Given the description of an element on the screen output the (x, y) to click on. 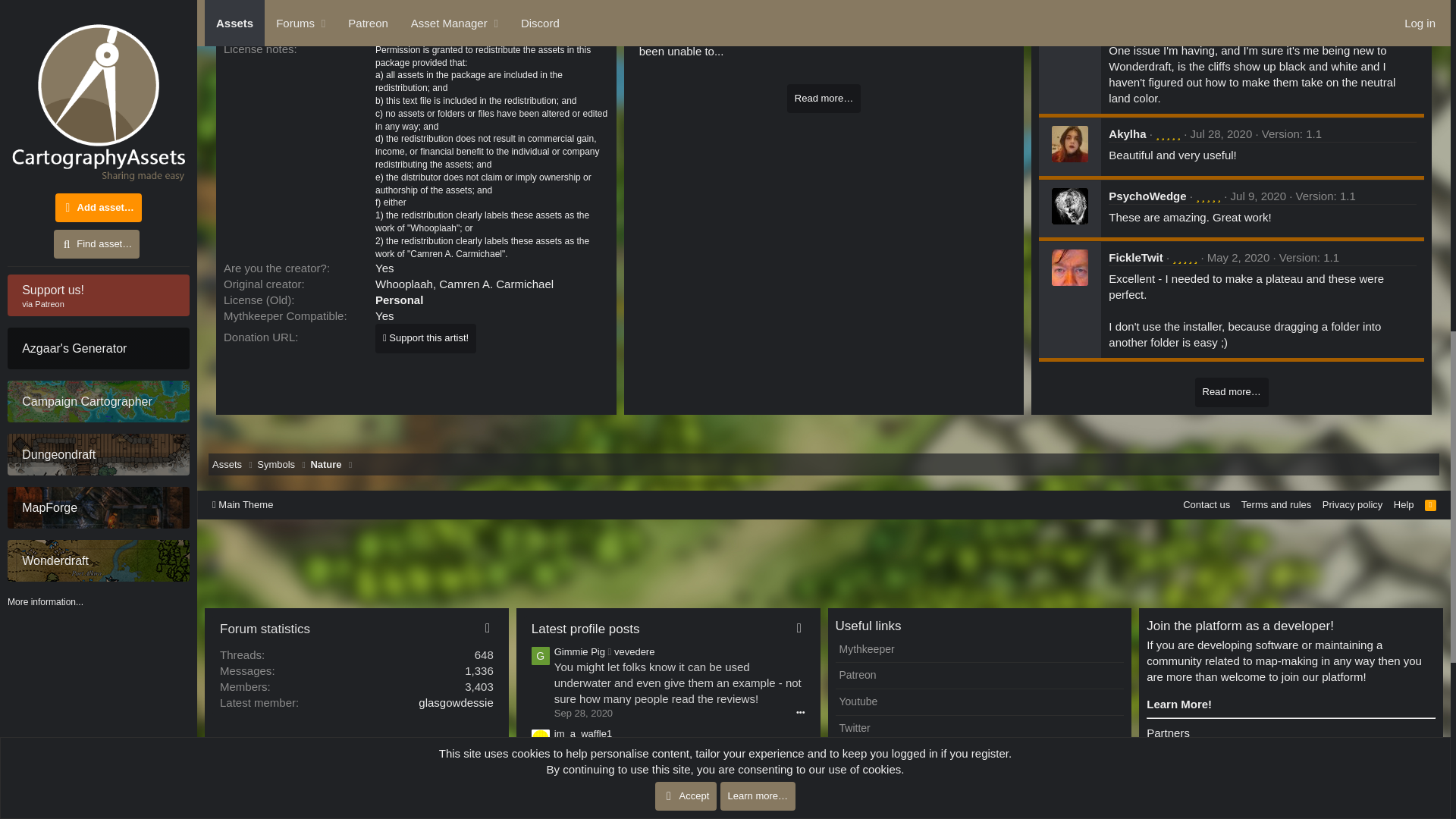
RSS (1430, 504)
May 2, 2020 at 1:56 PM (1238, 256)
Jul 28, 2020 at 12:03 PM (1221, 133)
Jul 9, 2020 at 12:24 AM (1257, 195)
Sep 22, 2020 at 12:51 PM (583, 779)
Sep 28, 2020 at 4:41 PM (583, 713)
Oct 5, 2020 at 11:16 PM (1231, 12)
